Given the description of an element on the screen output the (x, y) to click on. 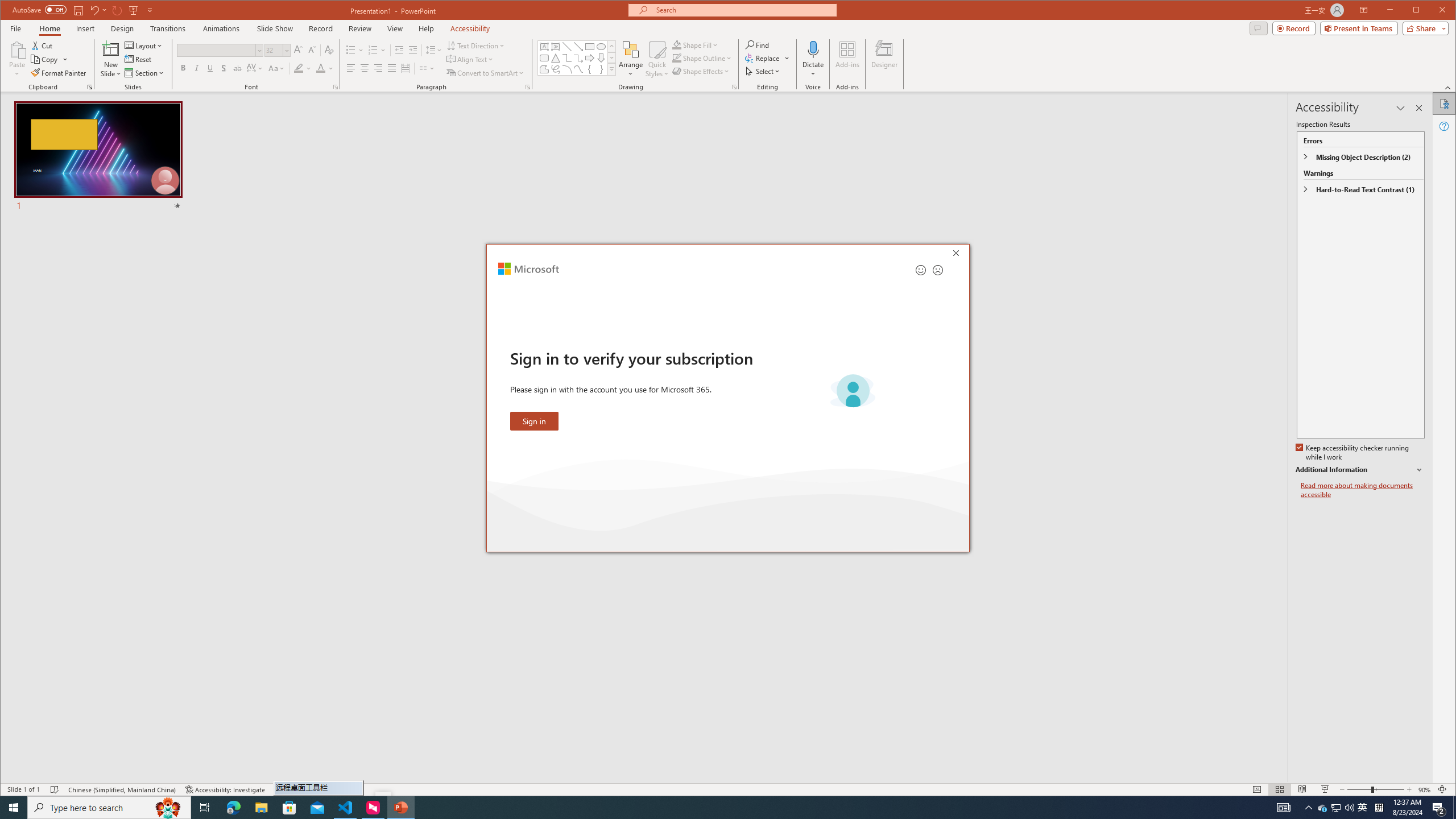
Send a smile for feedback (920, 269)
Sign in (534, 420)
